Given the description of an element on the screen output the (x, y) to click on. 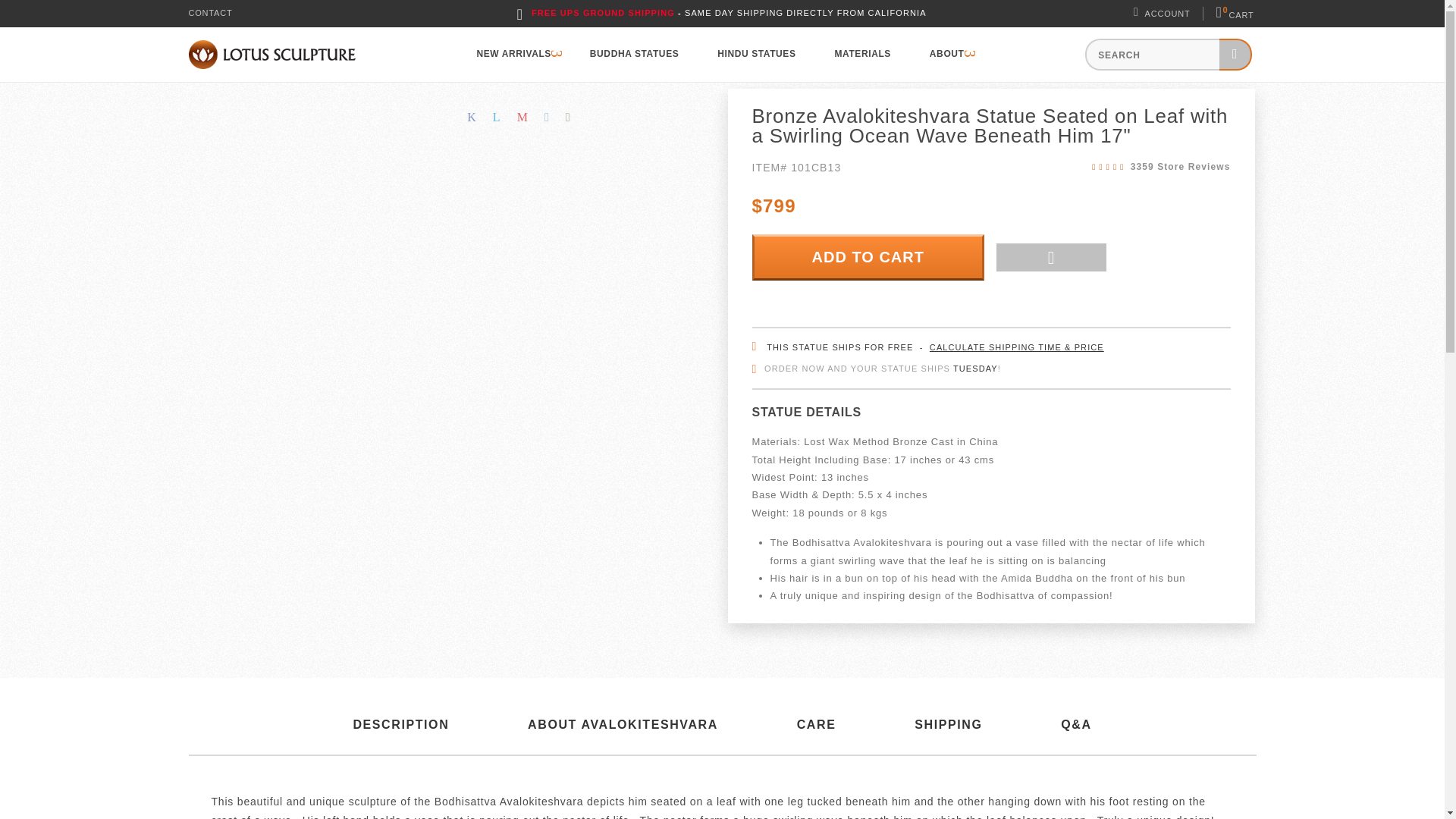
ACCOUNT (1169, 13)
NEW ARRIVALS (513, 54)
Buddha Statues, Hindu Gods Statues (271, 54)
CONTACT (209, 12)
BUDDHA STATUES (633, 54)
Lotus Sculpture (1234, 13)
